Given the description of an element on the screen output the (x, y) to click on. 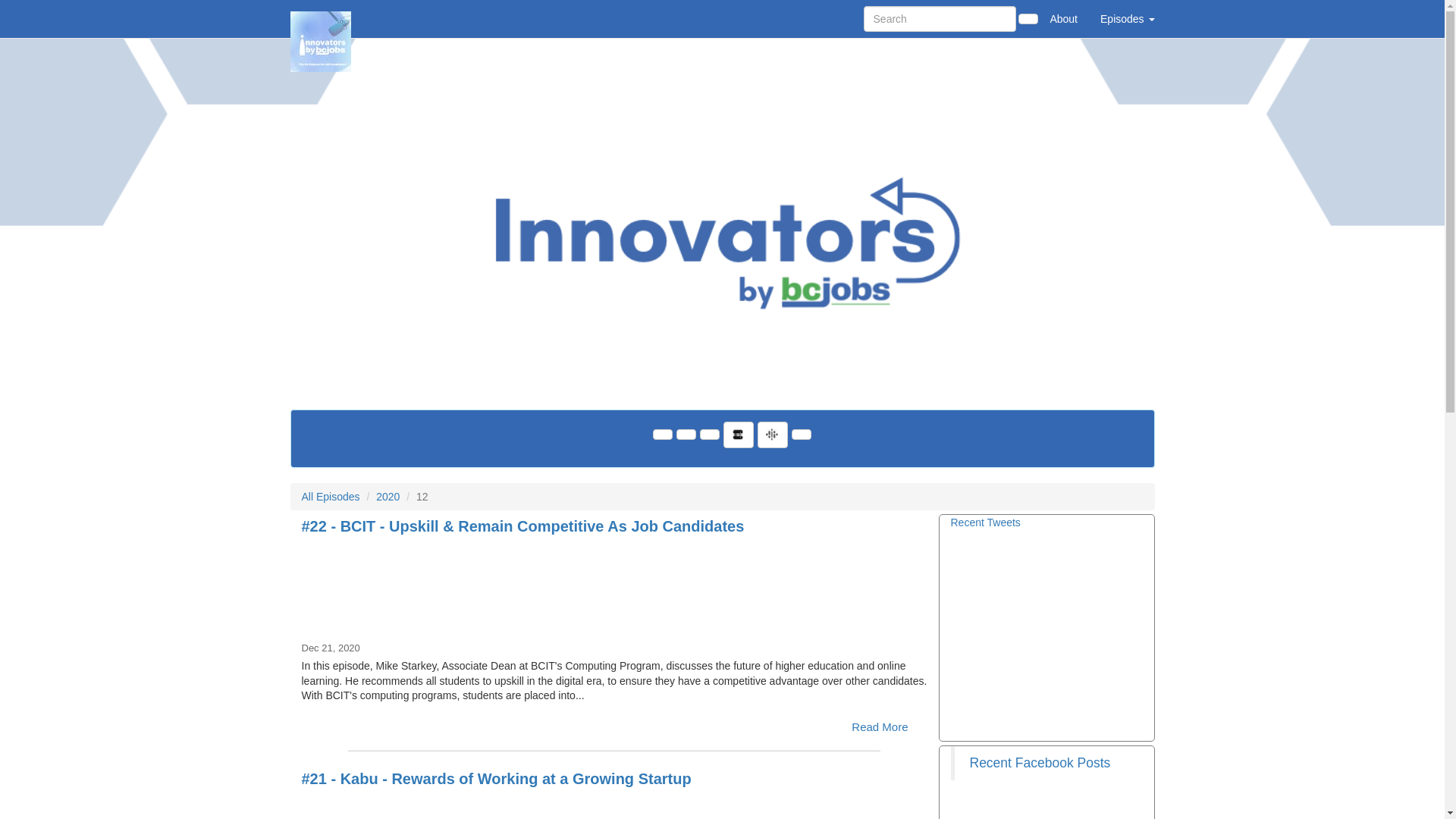
All Episodes Element type: text (330, 496)
2020 Element type: text (387, 496)
#21 - Kabu - Rewards of Working at a Growing Startup Element type: text (496, 778)
View Our LinkedIn Page Element type: hover (661, 434)
Subscribe to RSS Feed Element type: hover (686, 434)
Listen on Spotify Element type: hover (801, 434)
About Element type: text (1063, 18)
Episodes Element type: text (1126, 18)
Listen on Stitcher Element type: hover (738, 434)
#22 - BCIT - Upskill & Remain Competitive As Job Candidates Element type: hover (614, 587)
Read More Element type: text (879, 726)
Recent Facebook Posts Element type: text (1039, 762)
Listen on Apple Podcasts Element type: hover (708, 434)
Recent Tweets Element type: text (985, 522)
Home Page Element type: hover (320, 18)
#22 - BCIT - Upskill & Remain Competitive As Job Candidates Element type: text (522, 525)
Listen on Google Podcasts Element type: hover (771, 434)
